Given the description of an element on the screen output the (x, y) to click on. 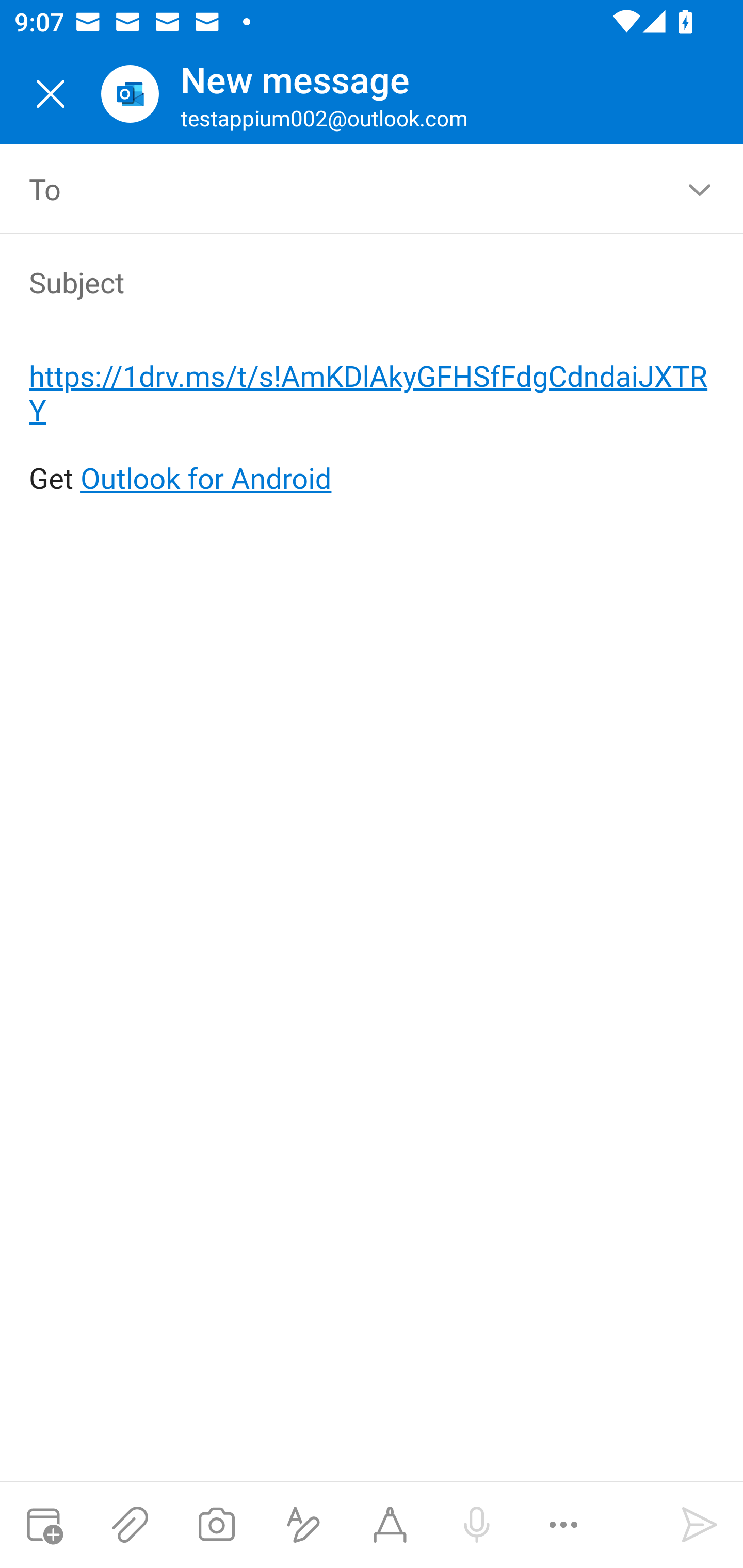
Close (50, 93)
Subject (342, 281)
Attach meeting (43, 1524)
Attach files (129, 1524)
Take a photo (216, 1524)
Show formatting options (303, 1524)
Start Ink compose (389, 1524)
More options (563, 1524)
Send (699, 1524)
